Given the description of an element on the screen output the (x, y) to click on. 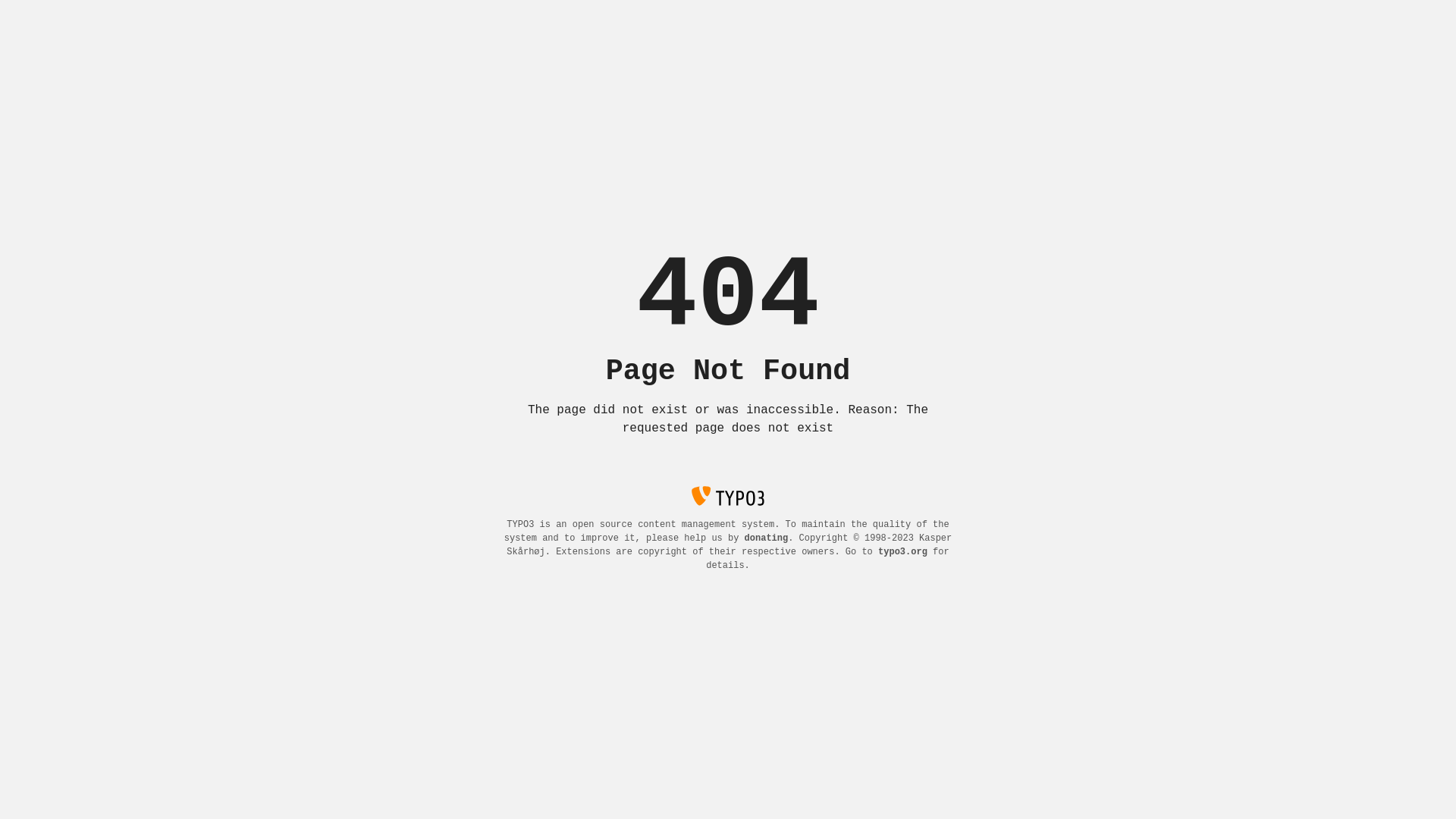
typo3.org Element type: text (902, 551)
donating Element type: text (766, 538)
